Given the description of an element on the screen output the (x, y) to click on. 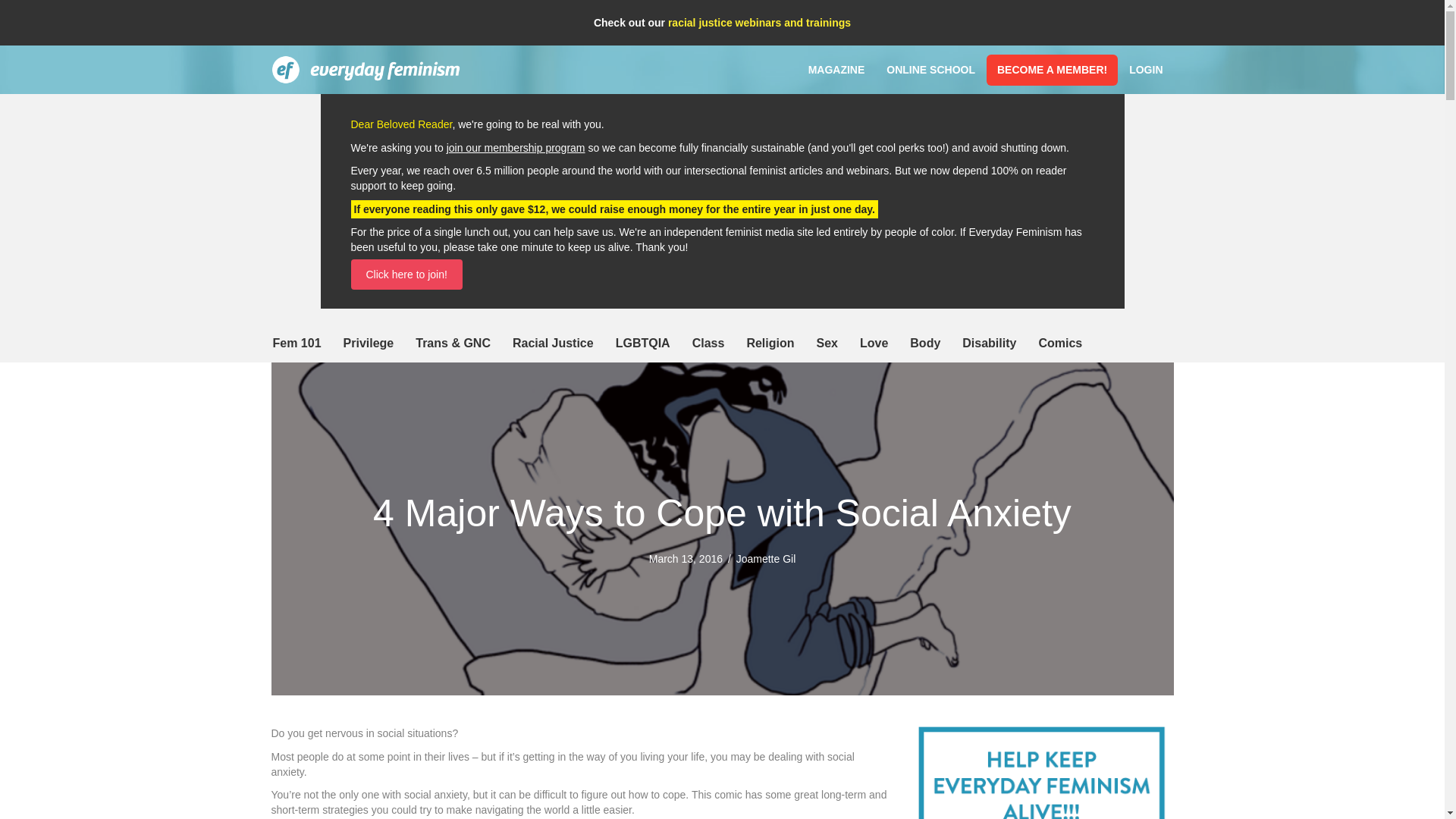
Privilege (368, 342)
Racial Justice (553, 342)
ONLINE SCHOOL (930, 69)
LGBTQIA (643, 342)
Click here to join! (405, 274)
Comics (1060, 342)
Top-bar-logo2 (365, 69)
join our membership program (515, 147)
Body (924, 342)
Check out our racial justice webinars and trainings (722, 22)
Love (873, 342)
Religion (770, 342)
Joamette Gil (766, 558)
Disability (989, 342)
MAGAZINE (836, 69)
